Given the description of an element on the screen output the (x, y) to click on. 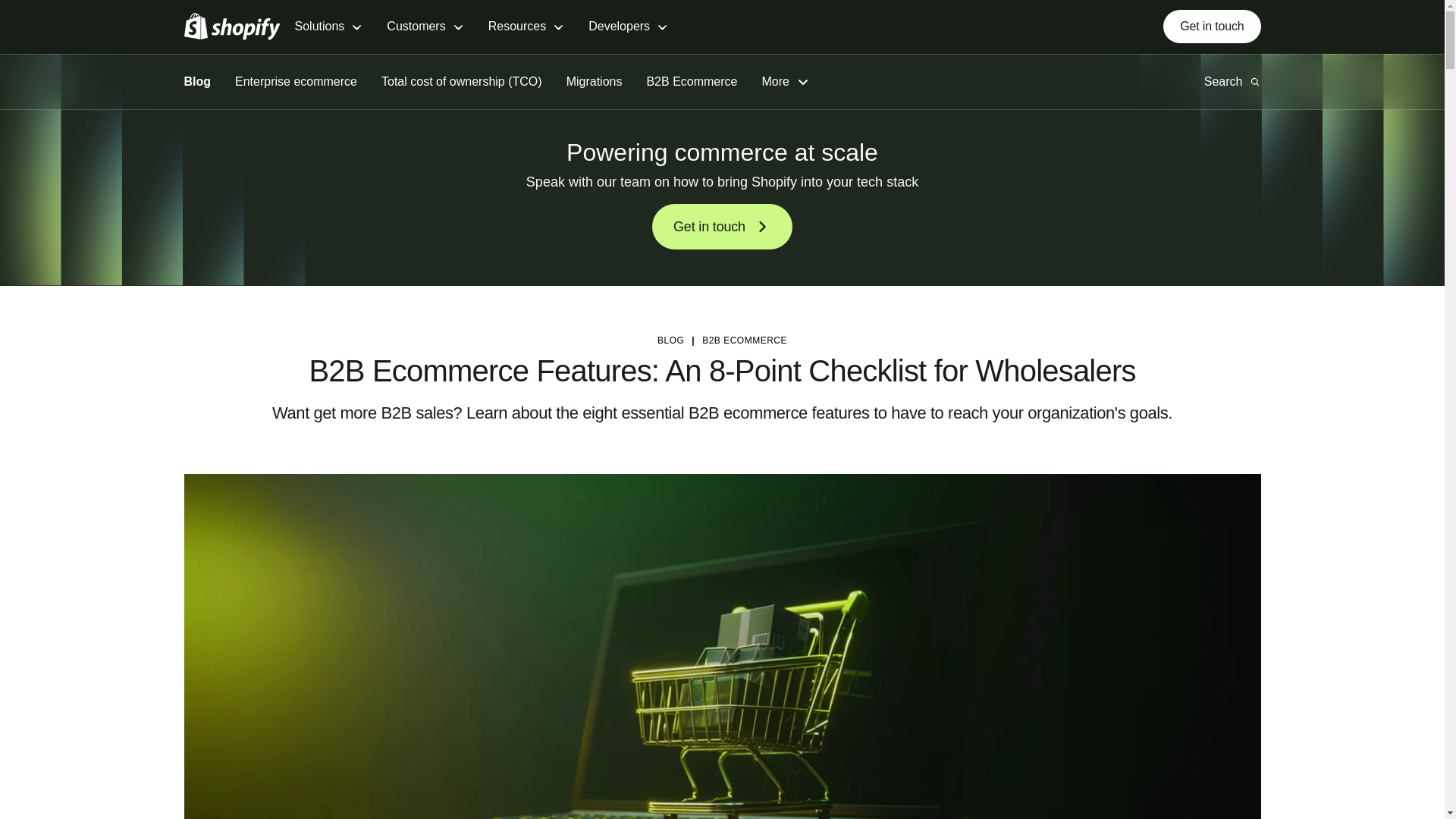
Resources (525, 27)
Customers (425, 27)
Developers (628, 27)
Solutions (328, 27)
